Given the description of an element on the screen output the (x, y) to click on. 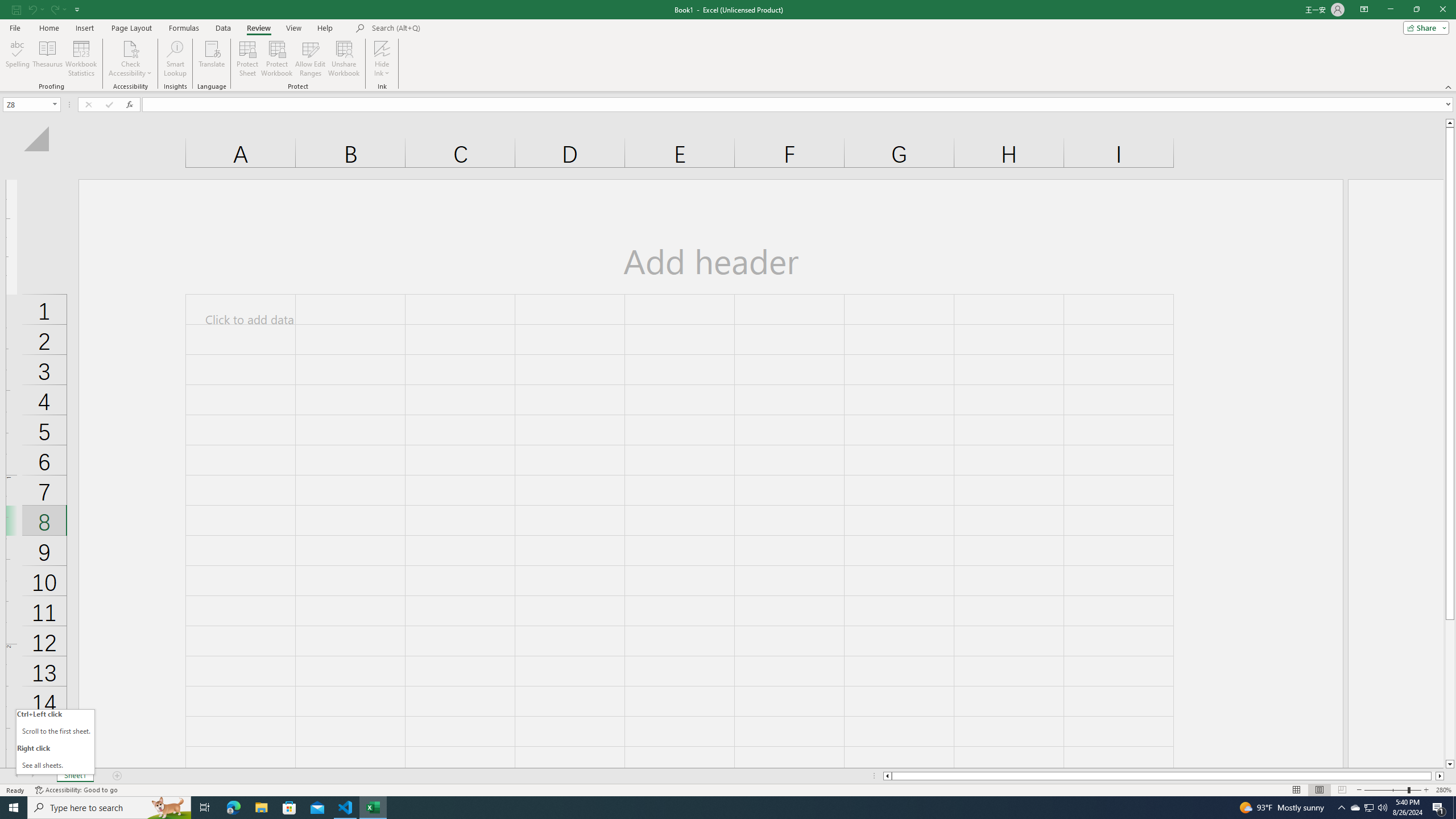
Check Accessibility (129, 48)
Name Box (27, 104)
Share (1423, 27)
Save (16, 9)
Review (258, 28)
Scroll Right (32, 775)
Zoom Out (1385, 790)
Column right (1440, 775)
Check Accessibility (129, 58)
Open (54, 104)
Sheet Tab (74, 775)
Page down (1449, 689)
Page right (1433, 775)
Minimize (1390, 9)
